Given the description of an element on the screen output the (x, y) to click on. 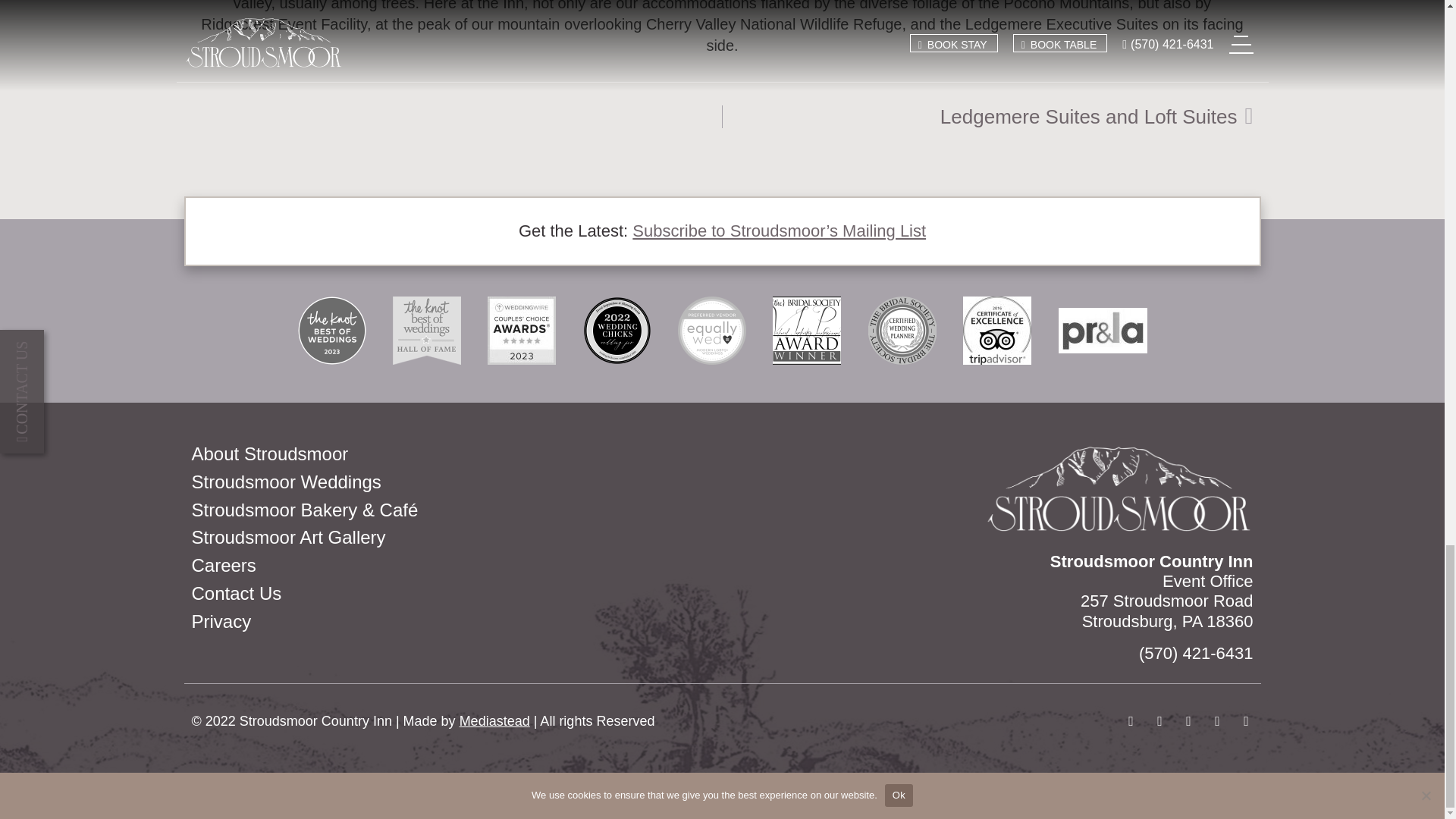
bridal-society-award-badge.png (807, 330)
knot-bow-2023 (987, 116)
Career Opportunities at Stroudsmoor Country Inn (331, 330)
Pinterest (452, 565)
Rss (1187, 721)
ww-couples-choice-2023-v2 (1245, 721)
Stroudsmoor Weddings (521, 330)
Stroudsmoor Art Gallery (452, 482)
Instagram (452, 538)
Youtube (1159, 721)
cwp-badge.png (1216, 721)
Privacy (901, 330)
Contact Us (452, 622)
2022-wedding-chicks-badge.png (452, 593)
